Given the description of an element on the screen output the (x, y) to click on. 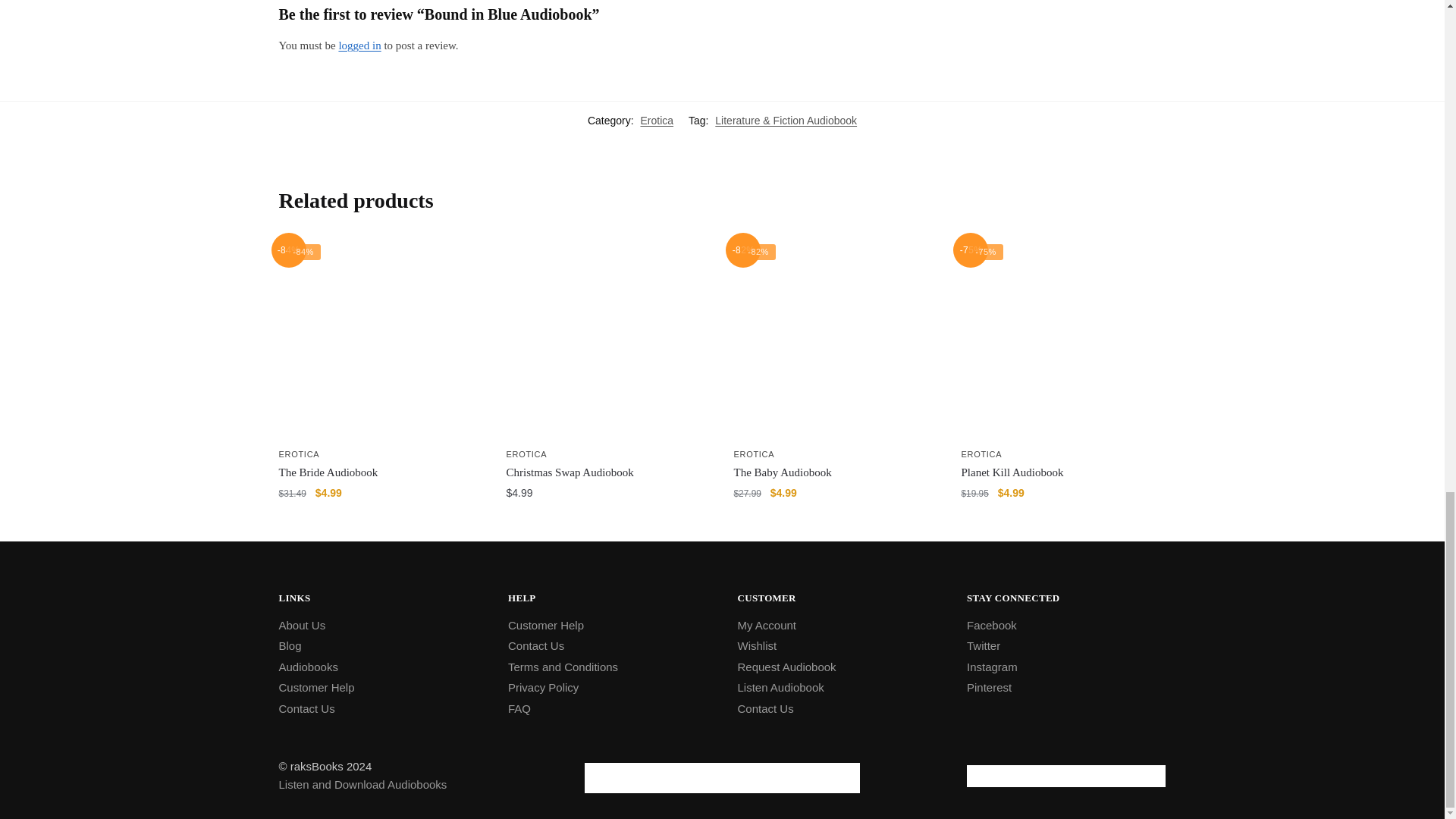
The Baby Audiobook (835, 338)
Christmas Swap Audiobook (608, 338)
Planet Kill Audiobook (1063, 338)
The Bride Audiobook (381, 338)
